Given the description of an element on the screen output the (x, y) to click on. 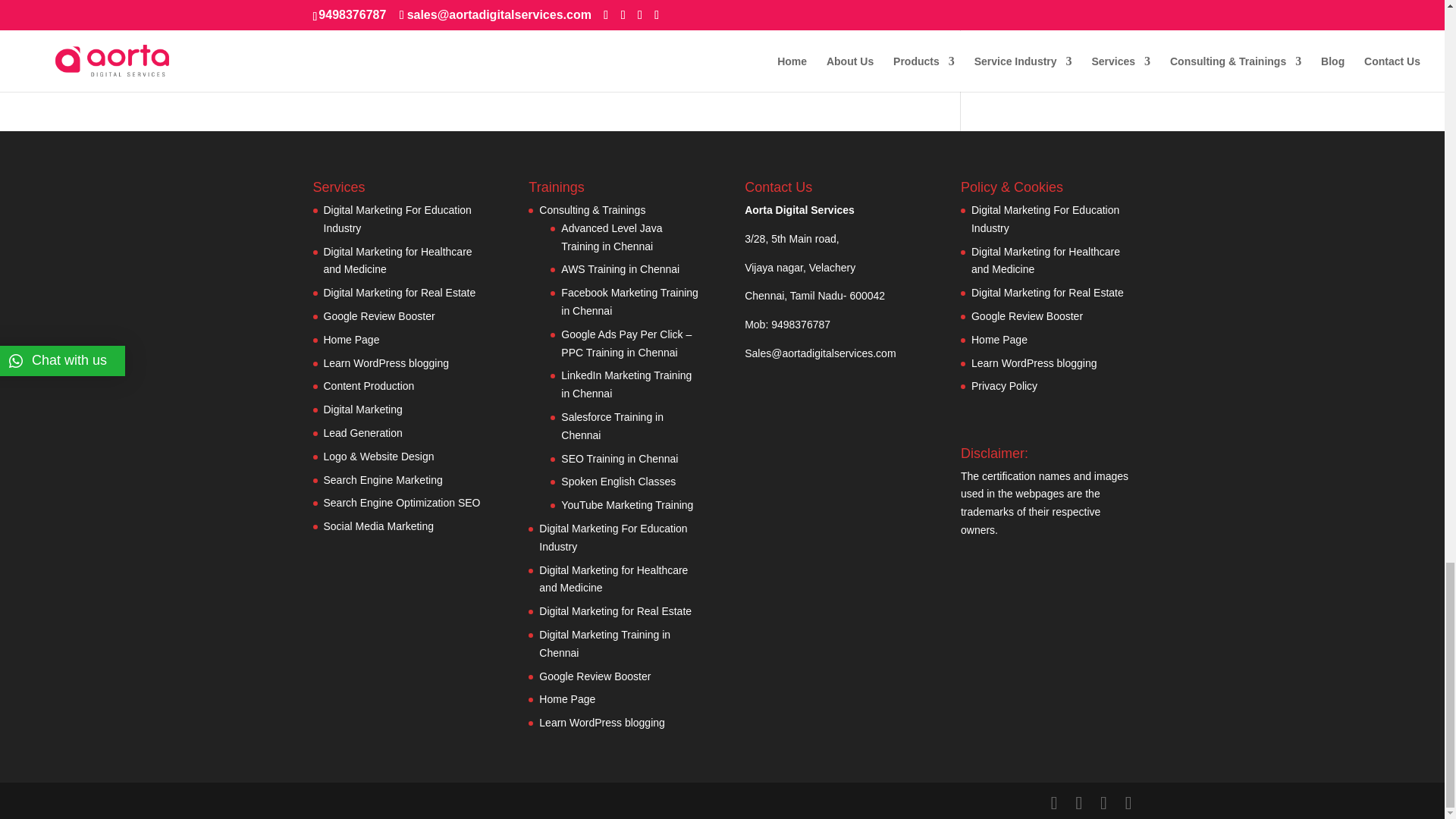
Submit Comment (840, 5)
